Given the description of an element on the screen output the (x, y) to click on. 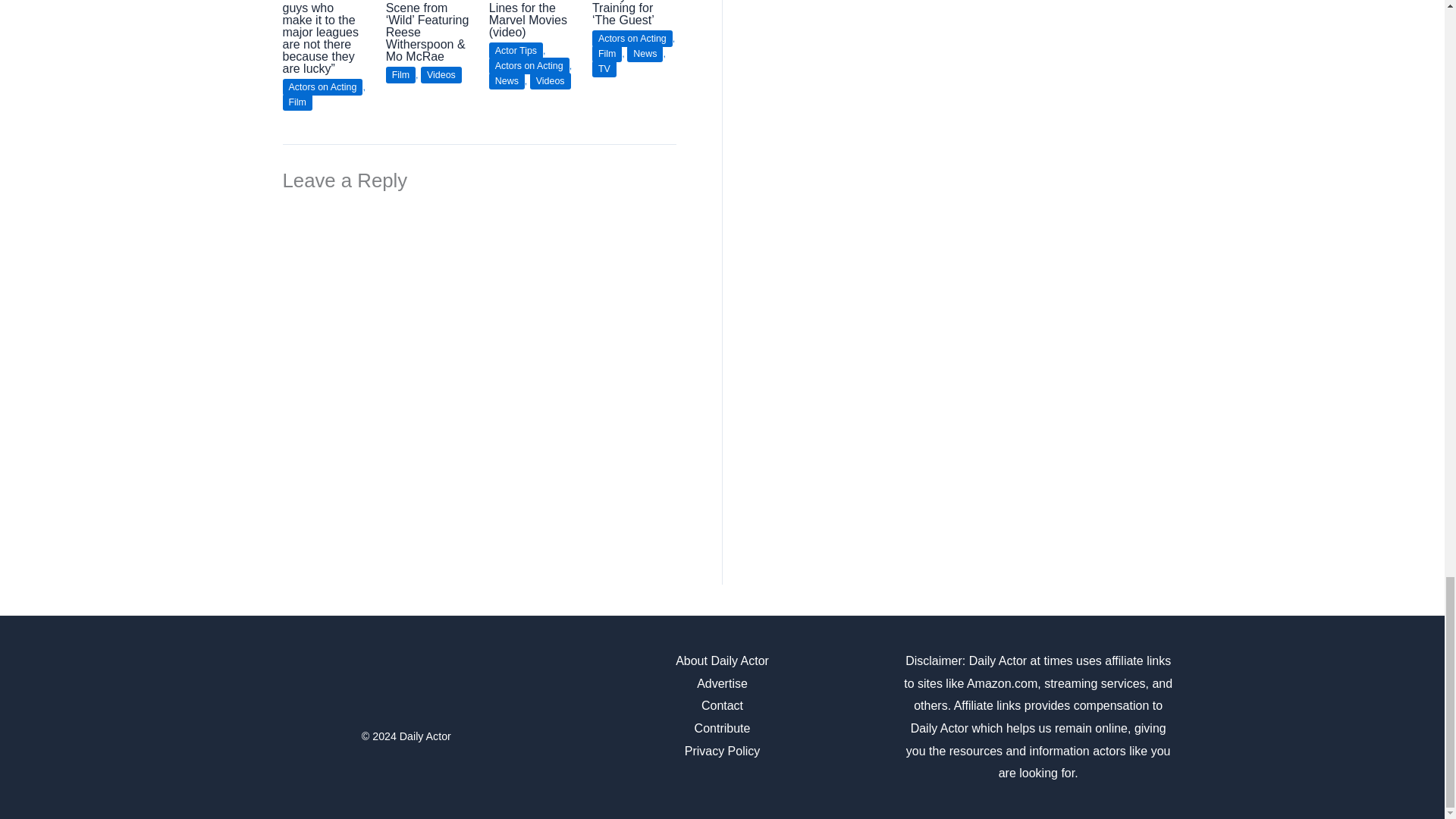
Comment Form (479, 359)
